Given the description of an element on the screen output the (x, y) to click on. 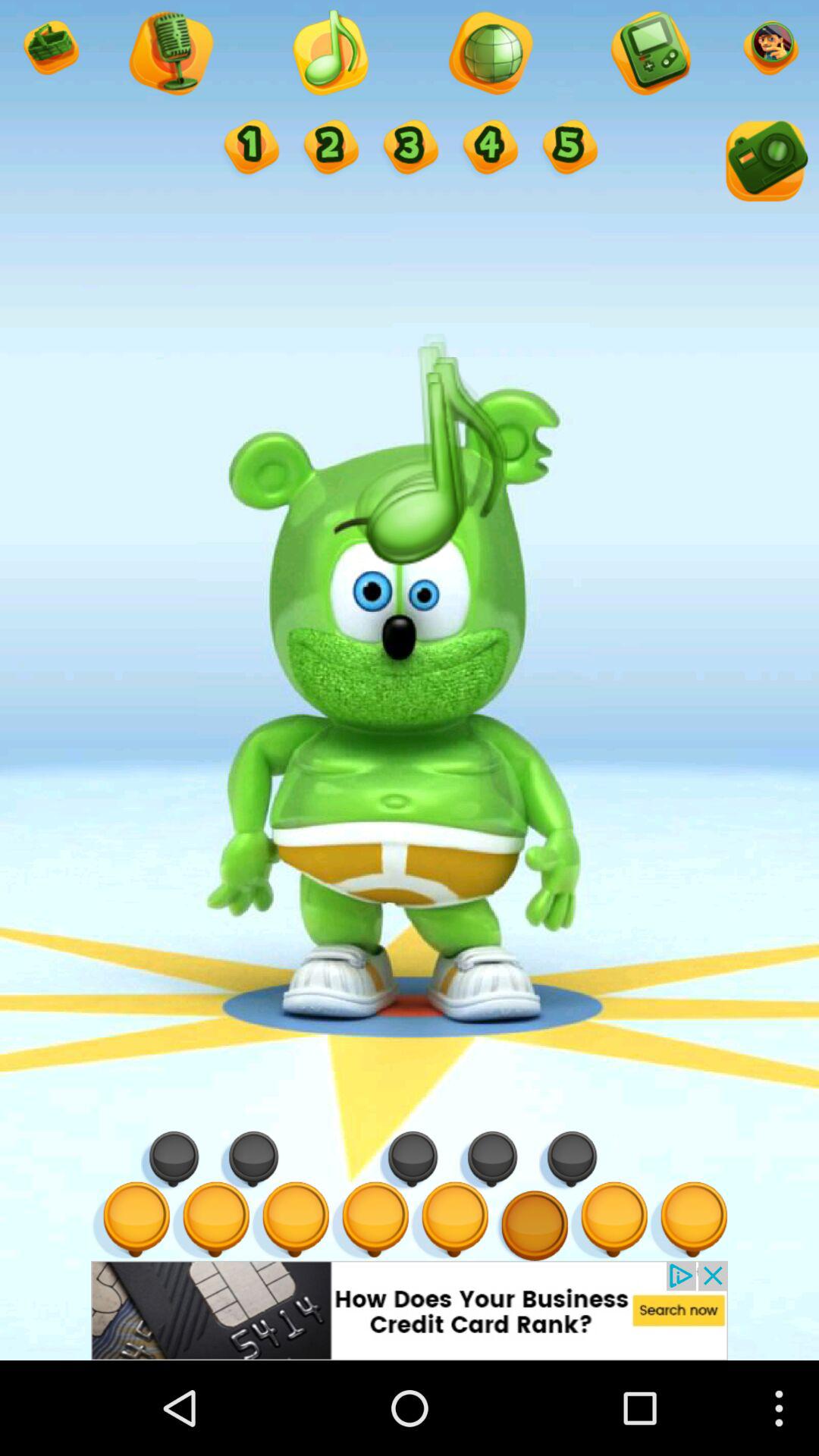
voice recording (169, 55)
